Given the description of an element on the screen output the (x, y) to click on. 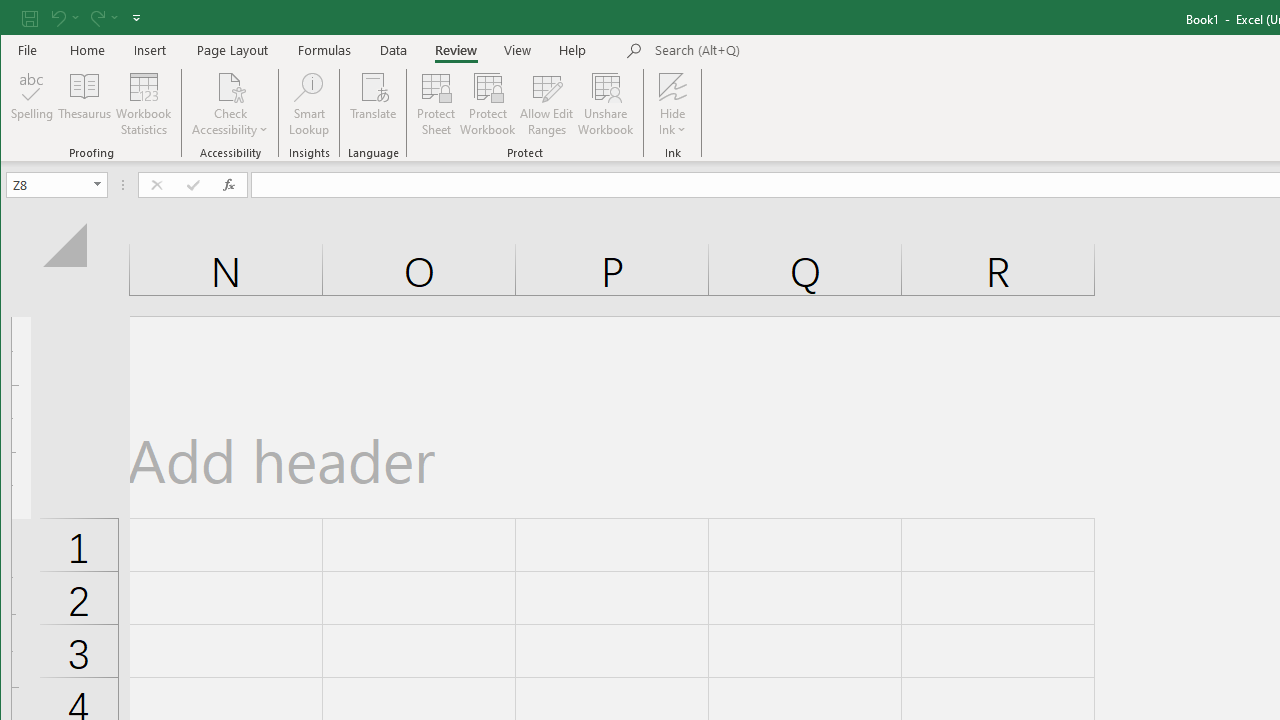
Smart Lookup (308, 104)
Protect Workbook... (488, 104)
